Given the description of an element on the screen output the (x, y) to click on. 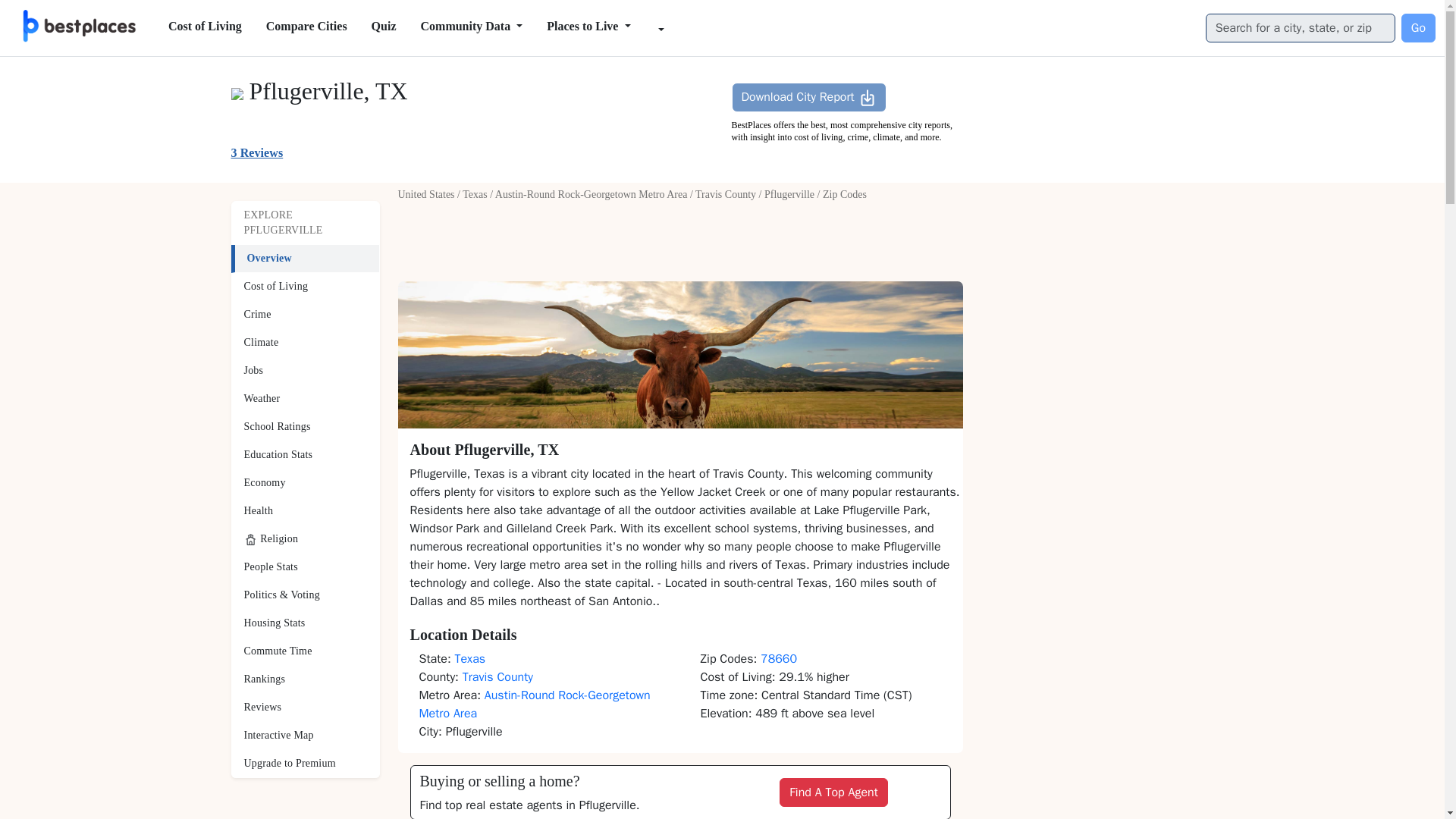
Quiz (384, 26)
Cost of Living (204, 26)
Places to Live (588, 26)
Compare Cities (306, 26)
Go (1417, 27)
Community Data (470, 26)
3 Reviews (256, 152)
Go (1417, 27)
Download City Report (807, 97)
